Given the description of an element on the screen output the (x, y) to click on. 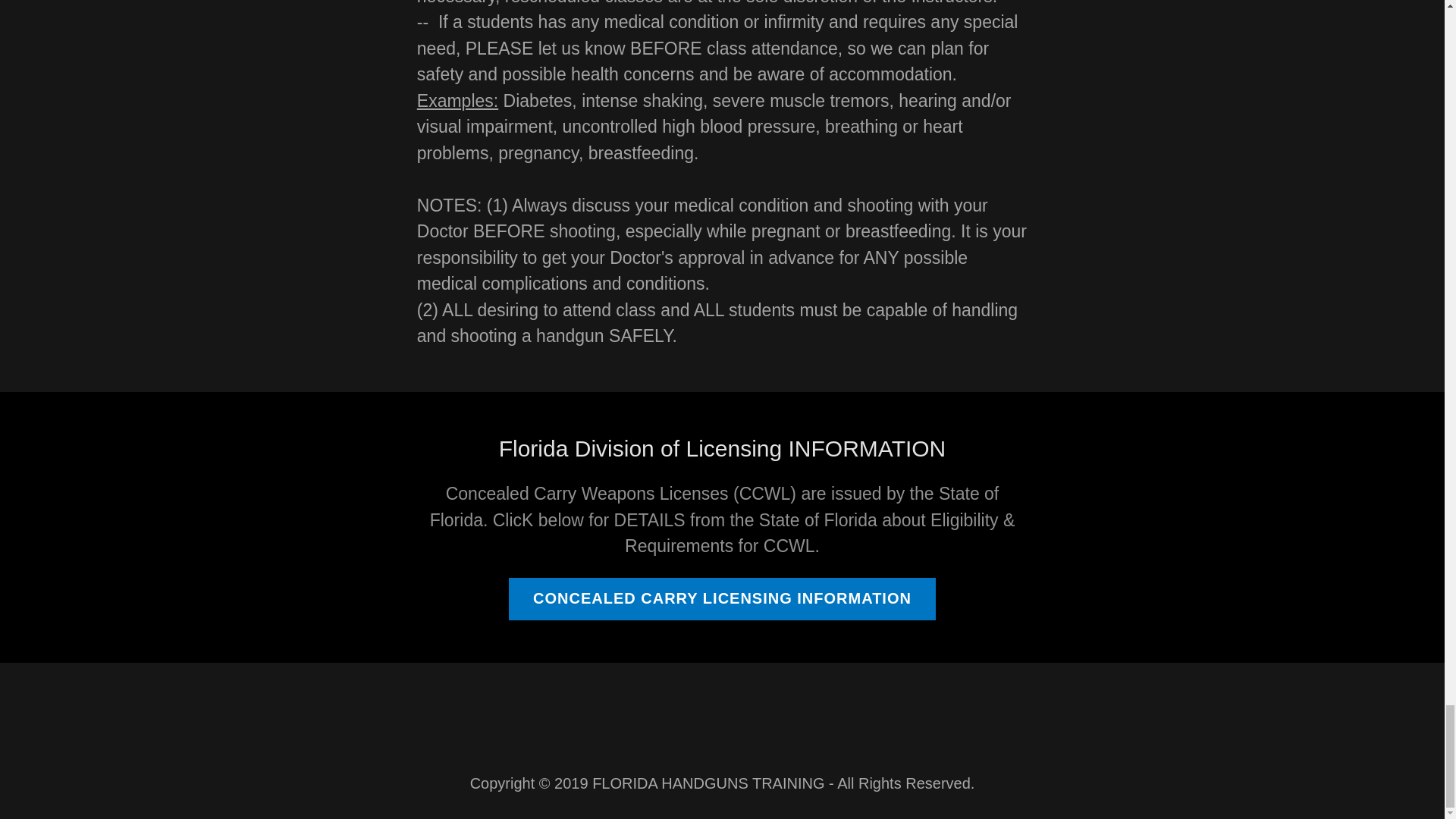
CONCEALED CARRY LICENSING INFORMATION (722, 598)
